Given the description of an element on the screen output the (x, y) to click on. 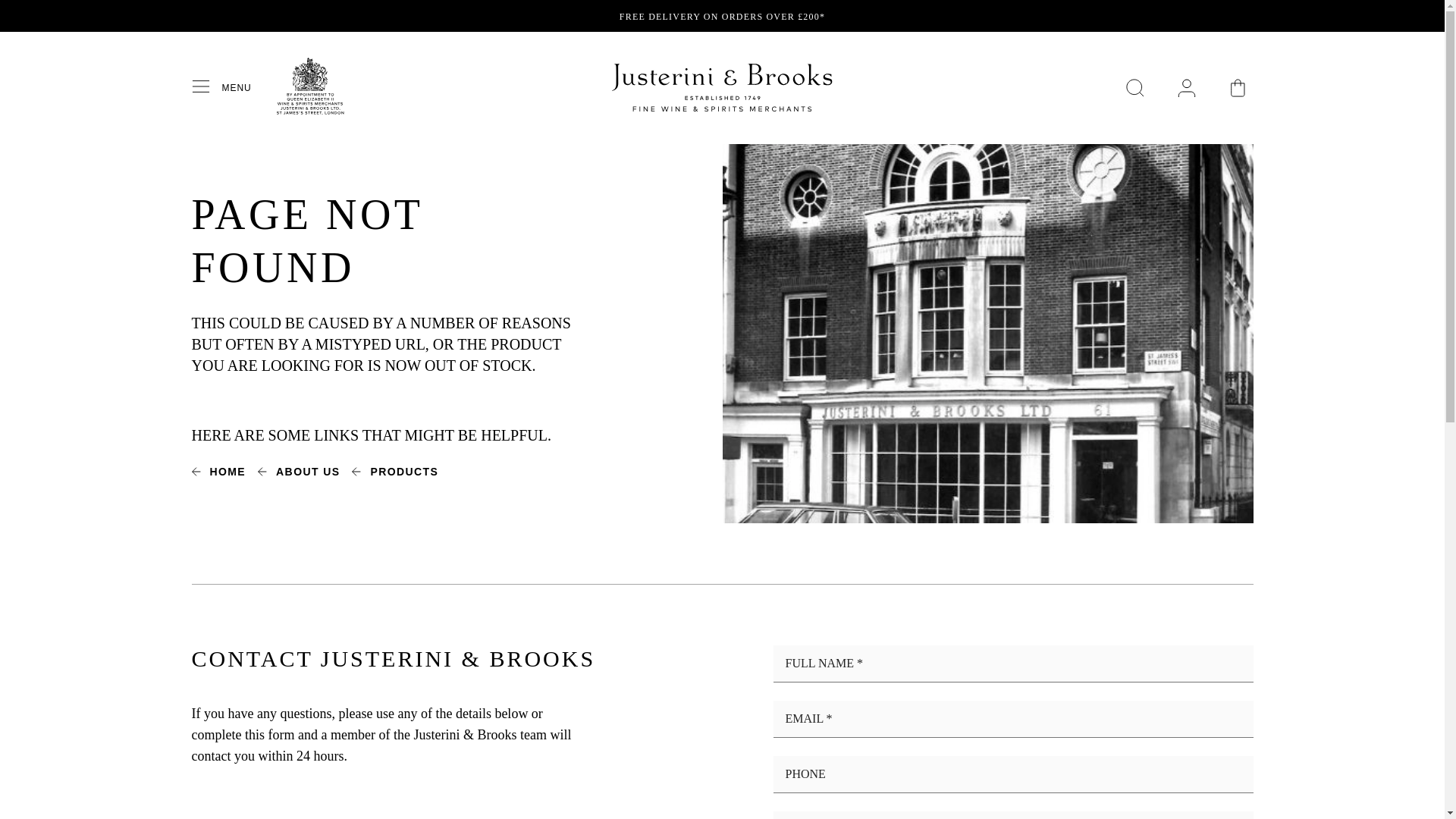
JB Logo (721, 87)
Royal Warrant Logo (309, 110)
Your Personal Cellar (1185, 87)
Menu (205, 87)
Arrow (356, 470)
Your Bag (1237, 87)
Arrow (261, 470)
Arrow (195, 470)
Search (1133, 87)
